Given the description of an element on the screen output the (x, y) to click on. 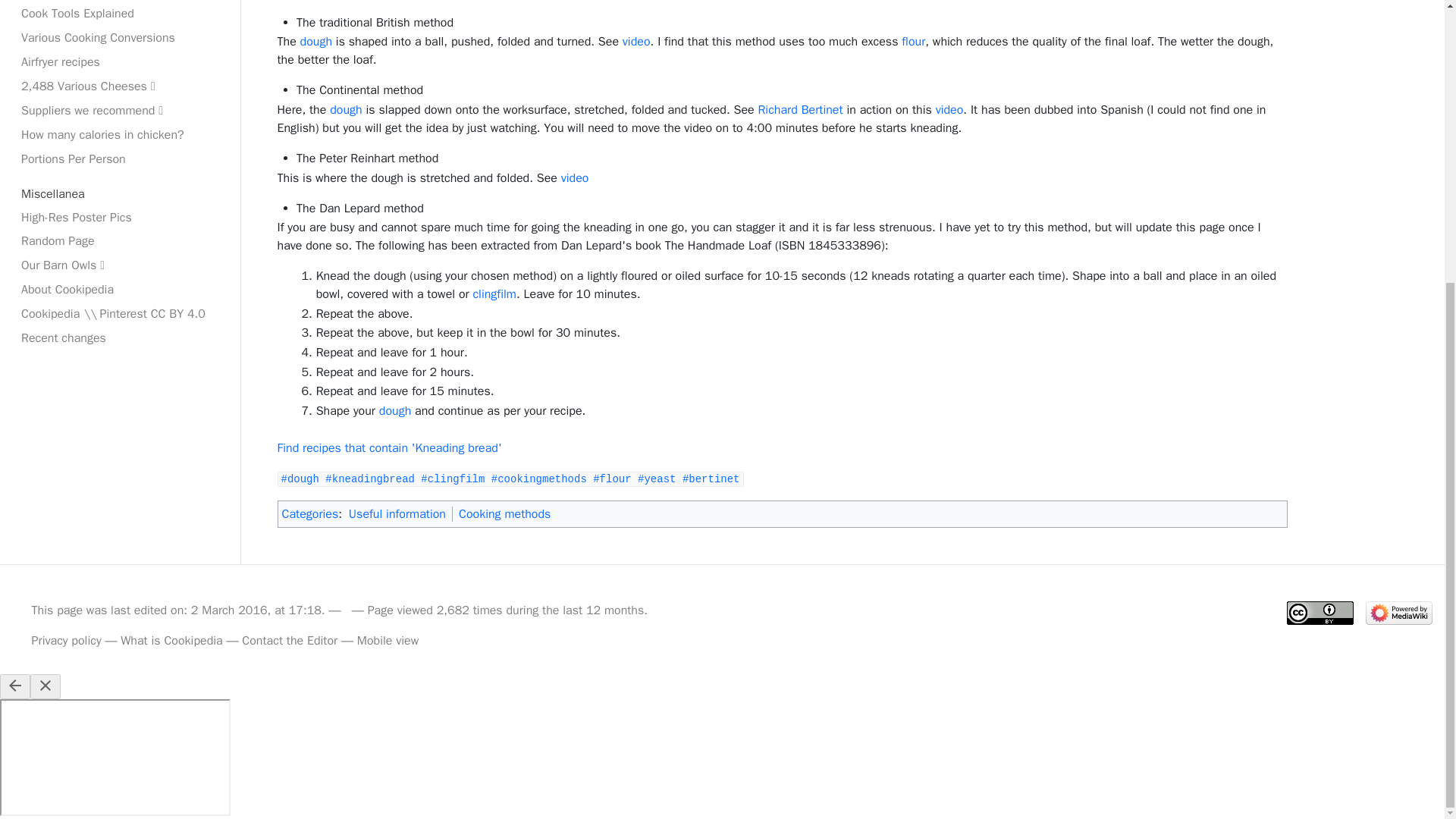
How many calories in chicken? (119, 134)
Miscellanea (119, 193)
Airfryer recipes (119, 61)
Cook Tools Explained (119, 13)
Various Cooking Conversions (119, 37)
Random Page (119, 241)
Recent changes (119, 337)
Portions Per Person (119, 159)
High-Res Poster Pics (119, 216)
About Cookipedia (119, 289)
